Given the description of an element on the screen output the (x, y) to click on. 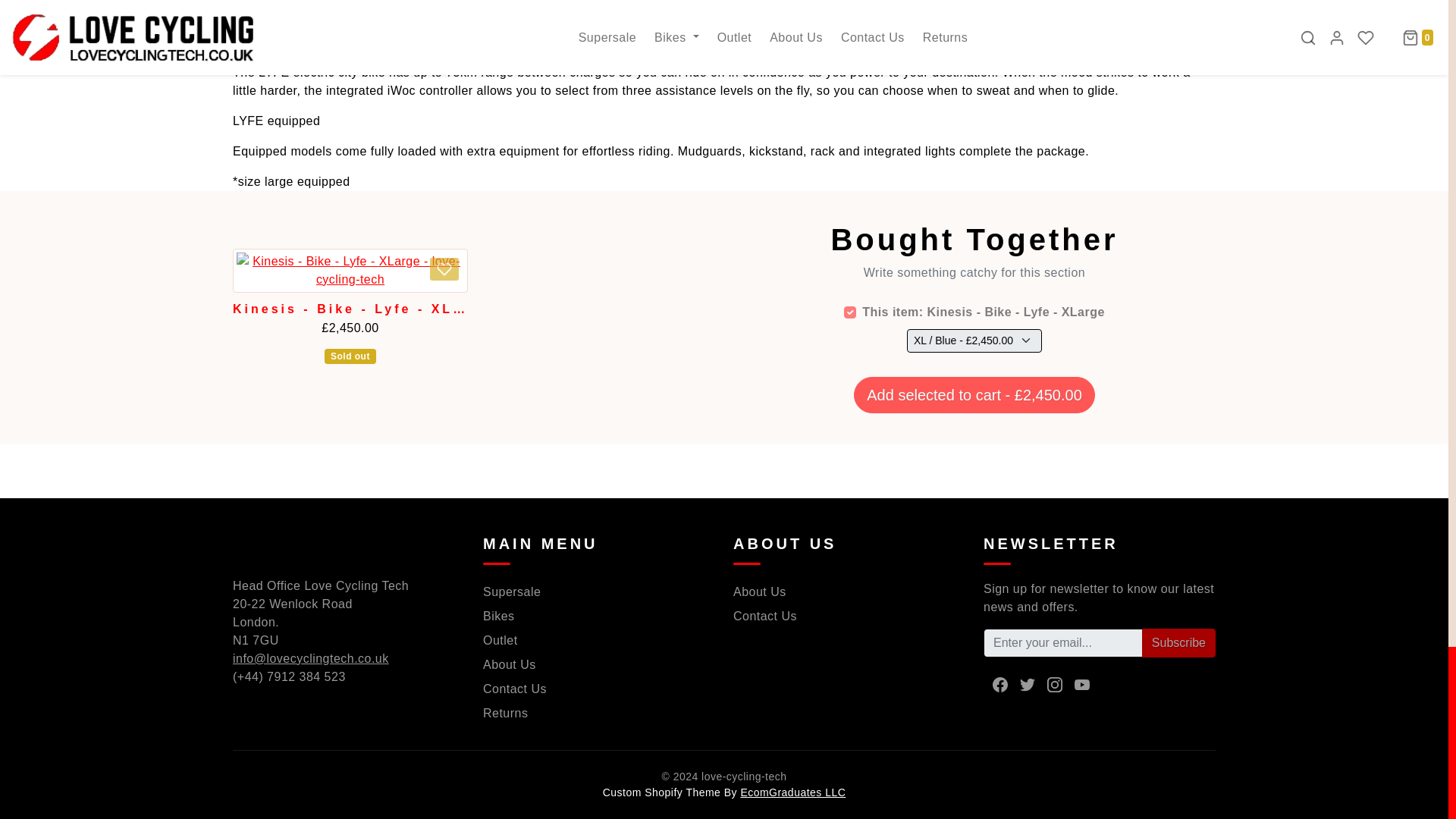
on (850, 312)
Facebook (1000, 684)
Twitter (1027, 684)
Instagram (1054, 684)
YouTube (1082, 684)
